Given the description of an element on the screen output the (x, y) to click on. 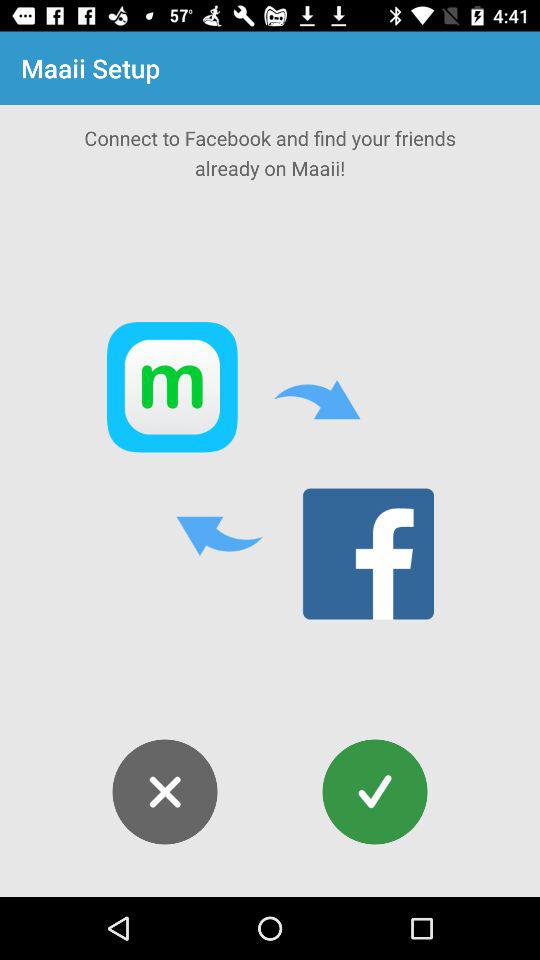
accept submit confirm (374, 791)
